Given the description of an element on the screen output the (x, y) to click on. 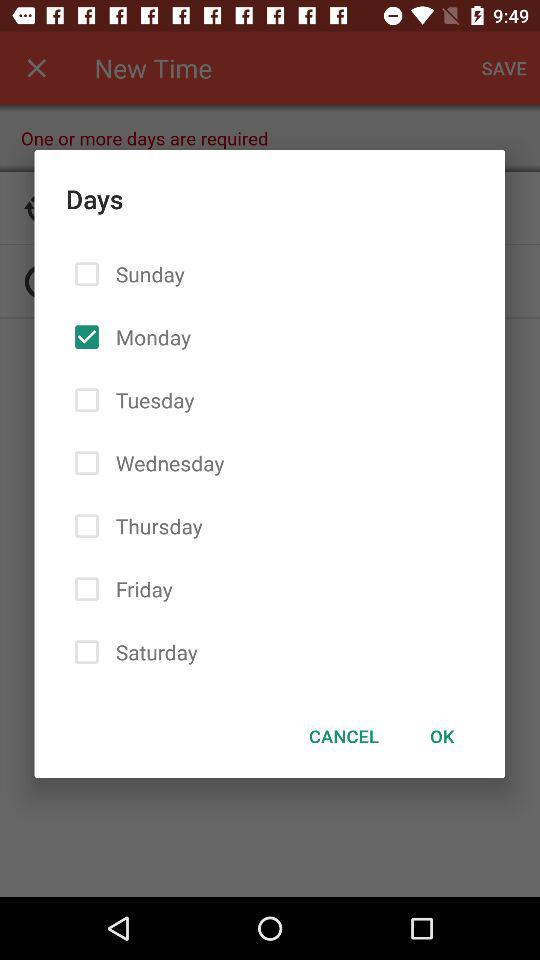
turn on item below days (441, 735)
